Given the description of an element on the screen output the (x, y) to click on. 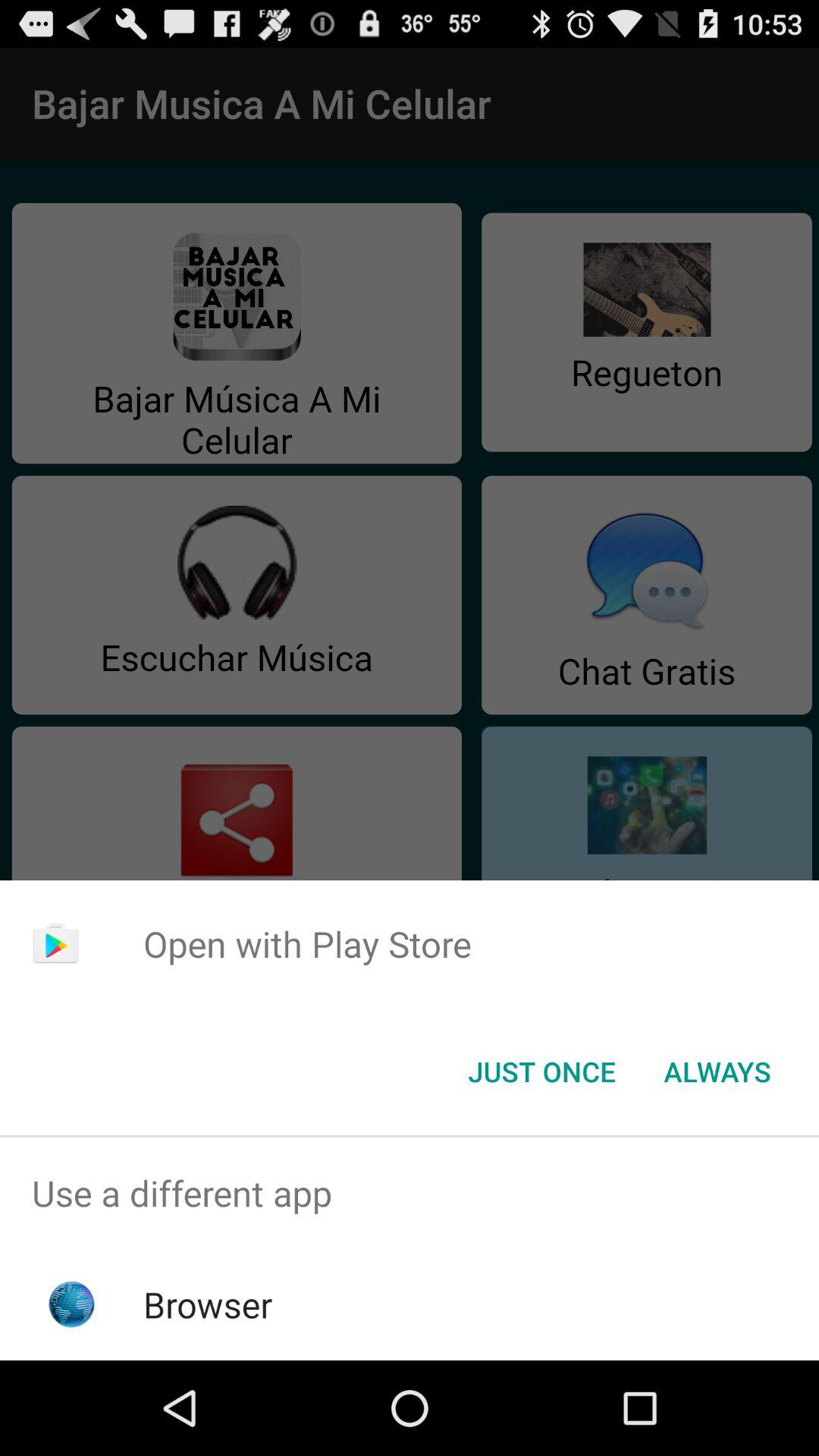
jump to always icon (717, 1071)
